Given the description of an element on the screen output the (x, y) to click on. 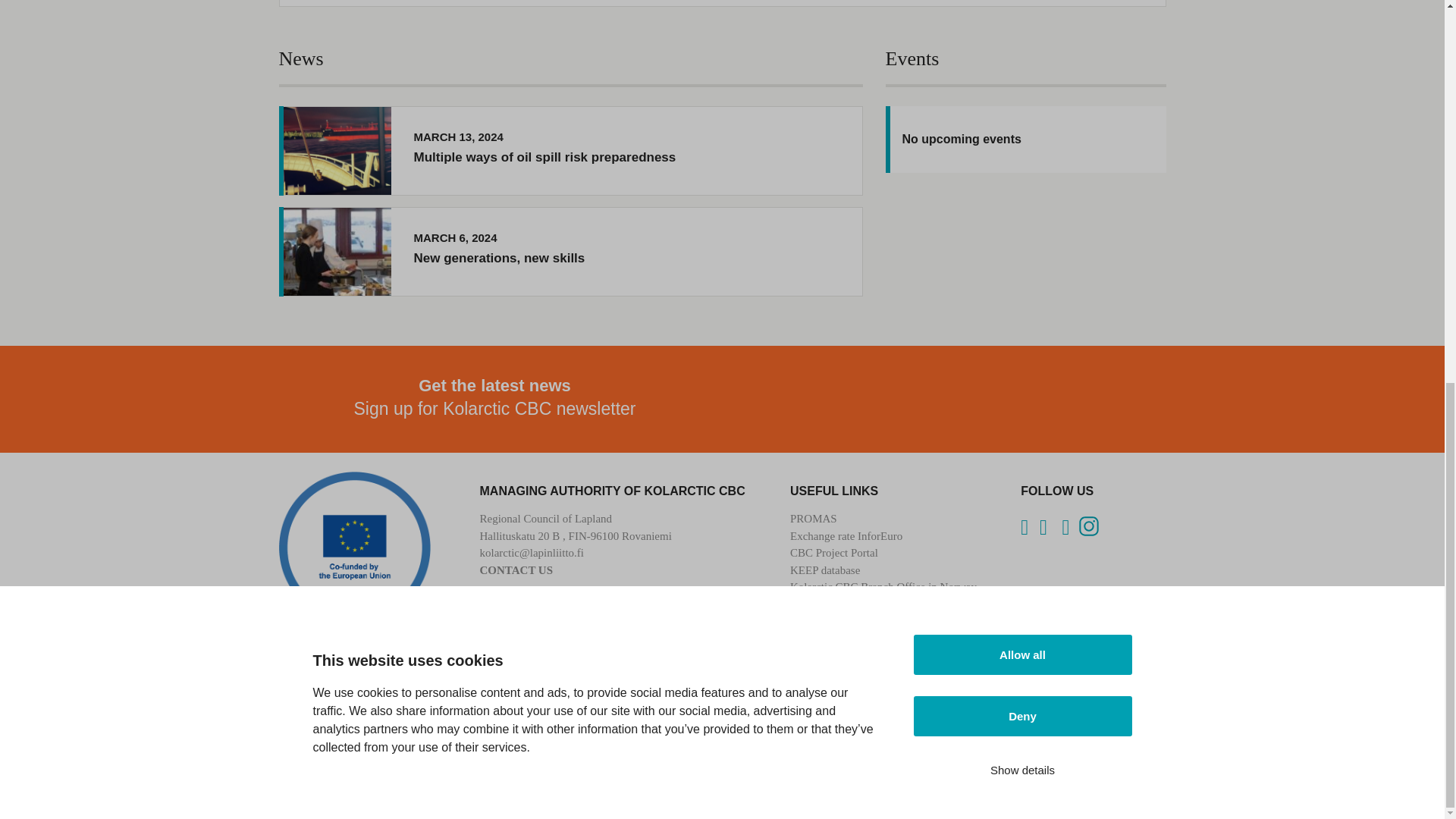
Deny (1021, 66)
Allow all (1021, 15)
Show details (1021, 109)
